Given the description of an element on the screen output the (x, y) to click on. 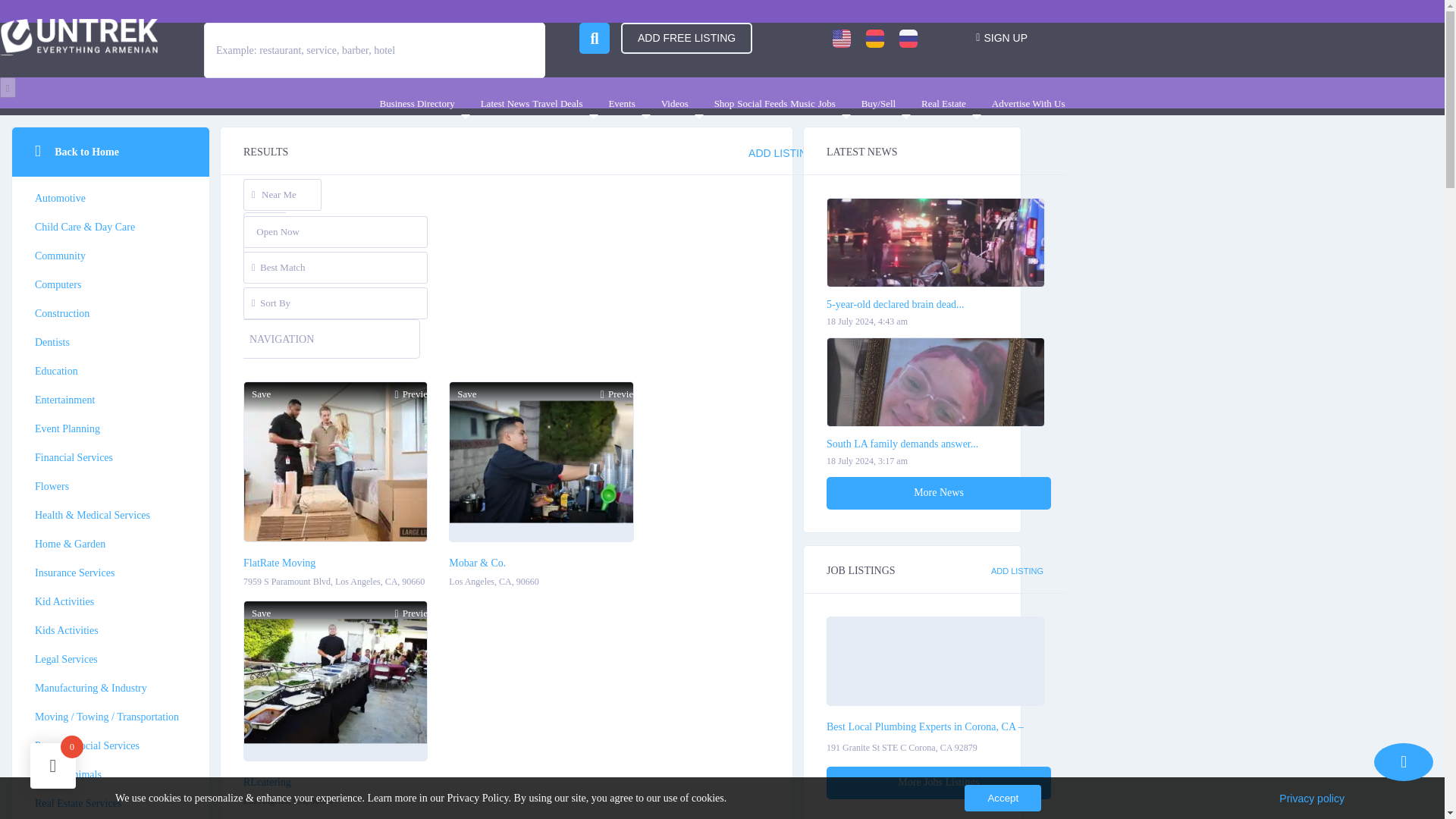
Latest News (504, 102)
ADD FREE LISTING (686, 38)
Business Directory (427, 102)
Travel Deals (568, 102)
SIGN UP (1001, 36)
